Given the description of an element on the screen output the (x, y) to click on. 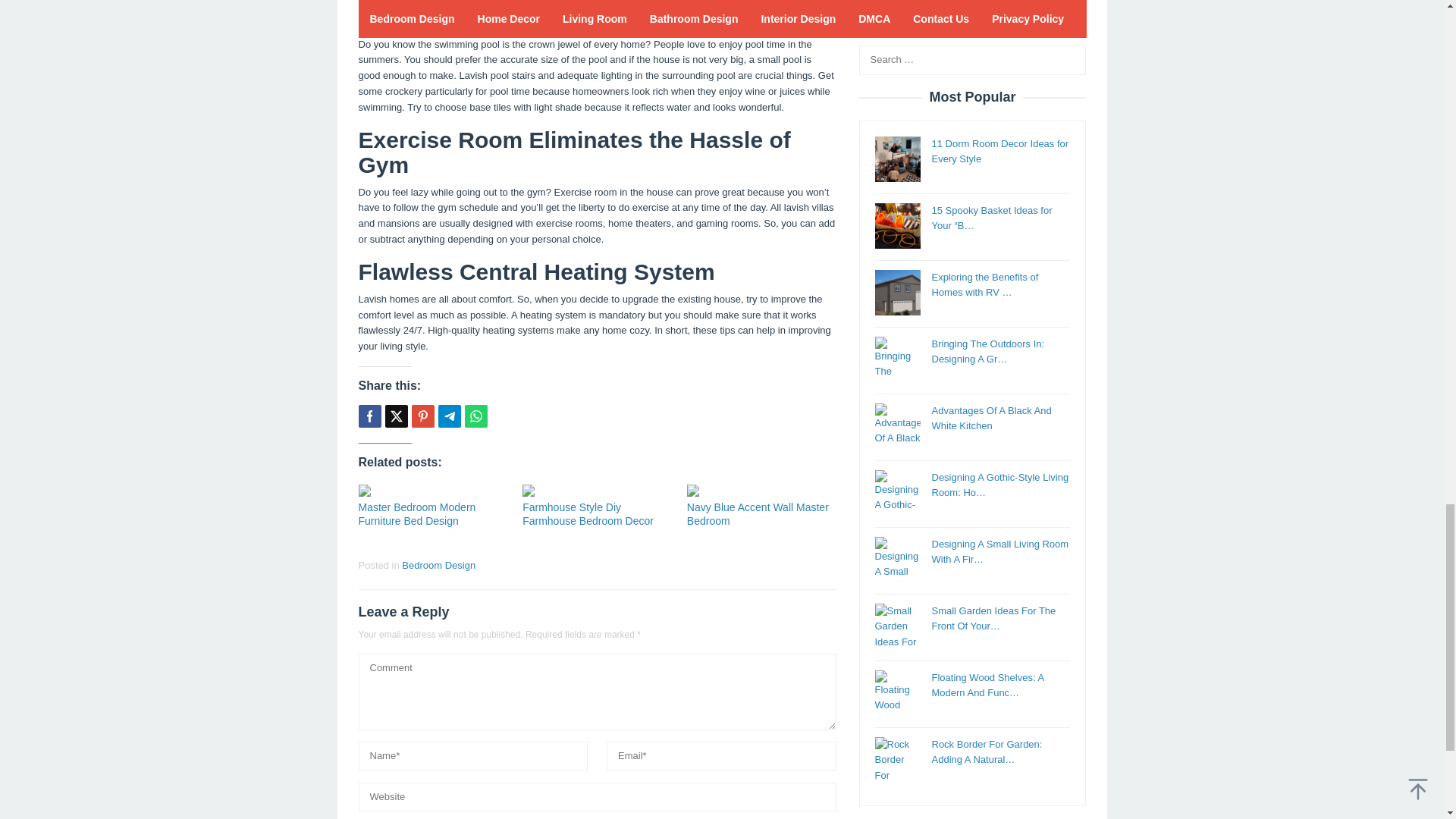
Navy Blue Accent Wall Master Bedroom (757, 514)
Tweet this (396, 415)
Whatsapp (475, 415)
Permalink to: Master Bedroom Modern Furniture Bed Design (417, 514)
Share this (369, 415)
Permalink to: Master Bedroom Modern Furniture Bed Design (432, 490)
Farmhouse Style Diy Farmhouse Bedroom Decor (587, 514)
Bedroom Design (438, 564)
Pin this (421, 415)
Permalink to: Navy Blue Accent Wall Master Bedroom (761, 490)
